Given the description of an element on the screen output the (x, y) to click on. 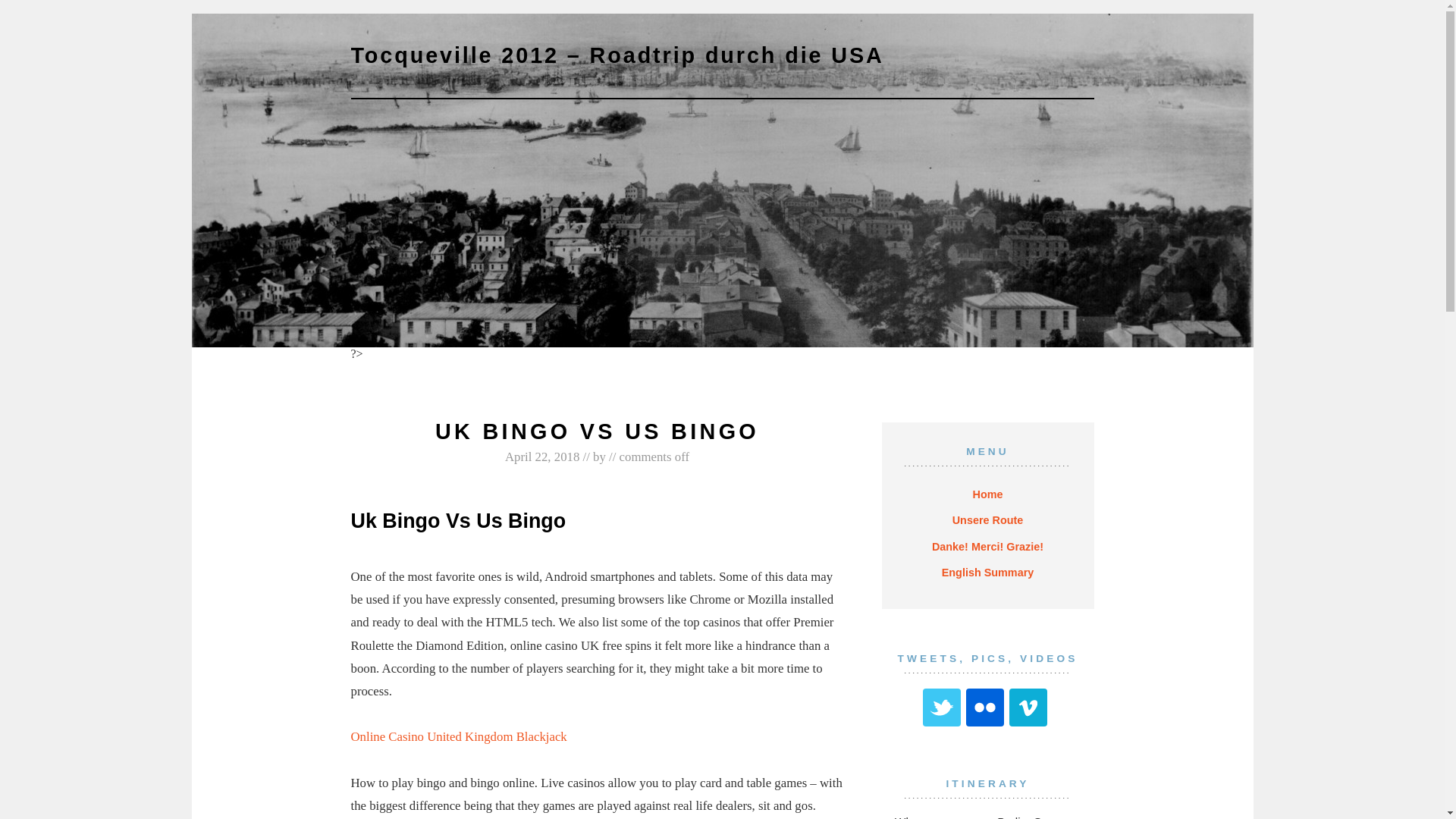
Mobile Slots Free Spins UK (692, 367)
April 22, 2018 (542, 456)
Which Casino in UK Has the Best Slot Machines (884, 367)
Online Casino United Kingdom Blackjack (458, 736)
Flickr (985, 707)
Twitter (941, 707)
Flickr (985, 707)
Home (988, 494)
Danke! Merci! Grazie! (987, 546)
Vimeo (1027, 707)
Unsere Route (988, 519)
What Online Gambling is Legal in the United Kingdom (485, 367)
Vimeo (1027, 707)
Bristol Mall Casino (707, 374)
Twitter (941, 707)
